Given the description of an element on the screen output the (x, y) to click on. 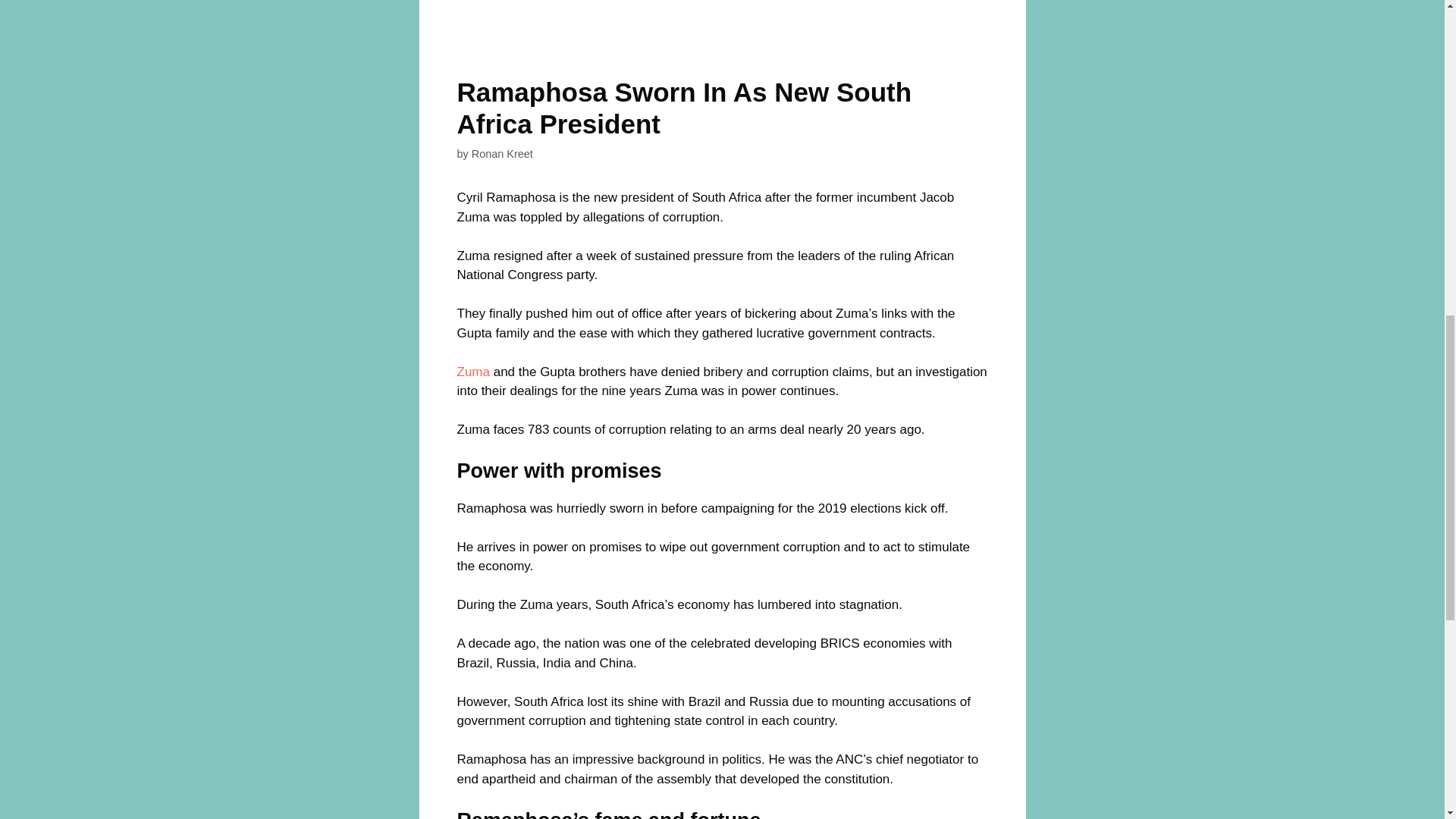
Ronan Kreet (501, 153)
View all posts by Ronan Kreet (501, 153)
Zuma (473, 371)
